Given the description of an element on the screen output the (x, y) to click on. 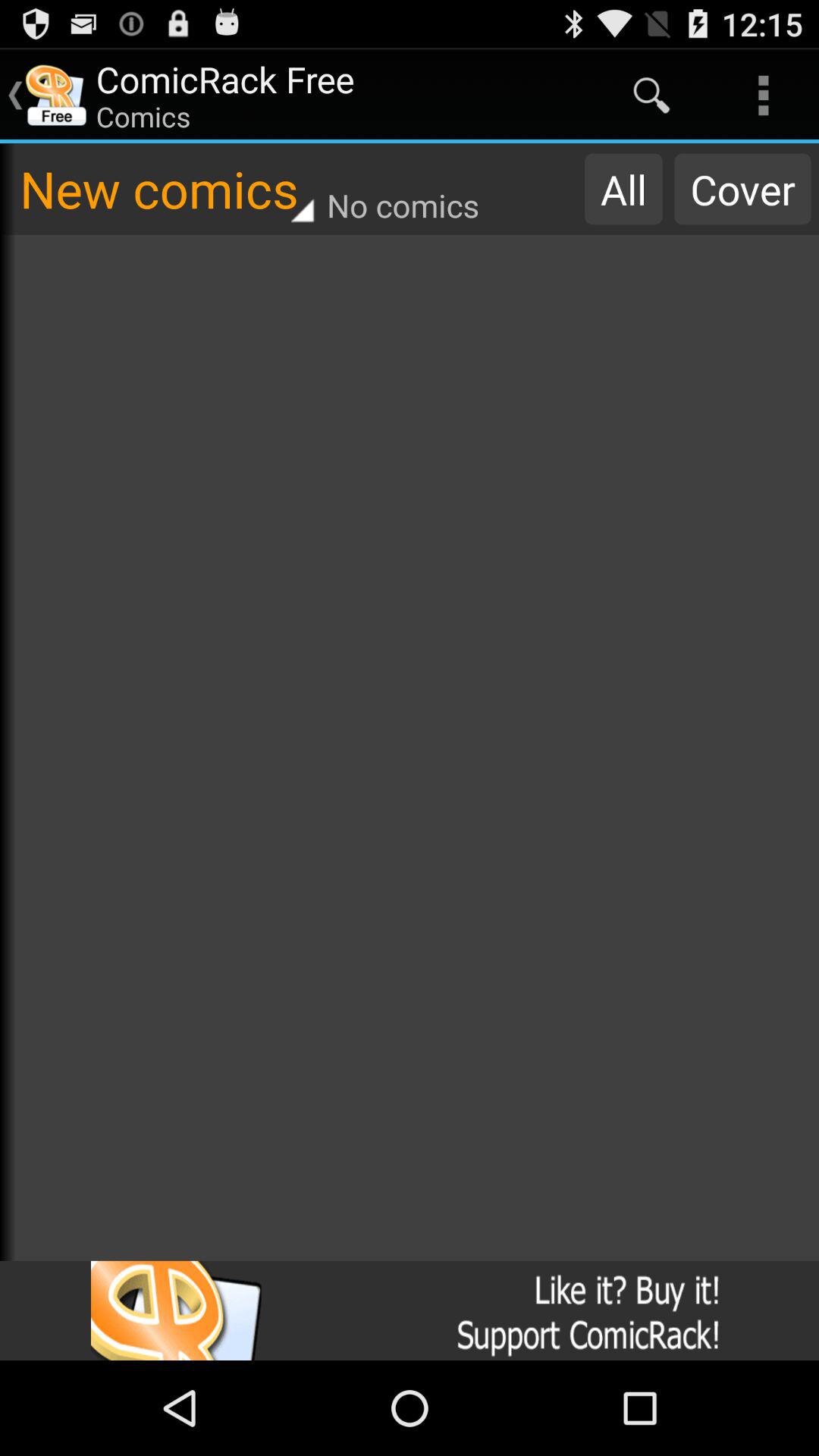
launch the app to the right of the no comics icon (623, 188)
